Given the description of an element on the screen output the (x, y) to click on. 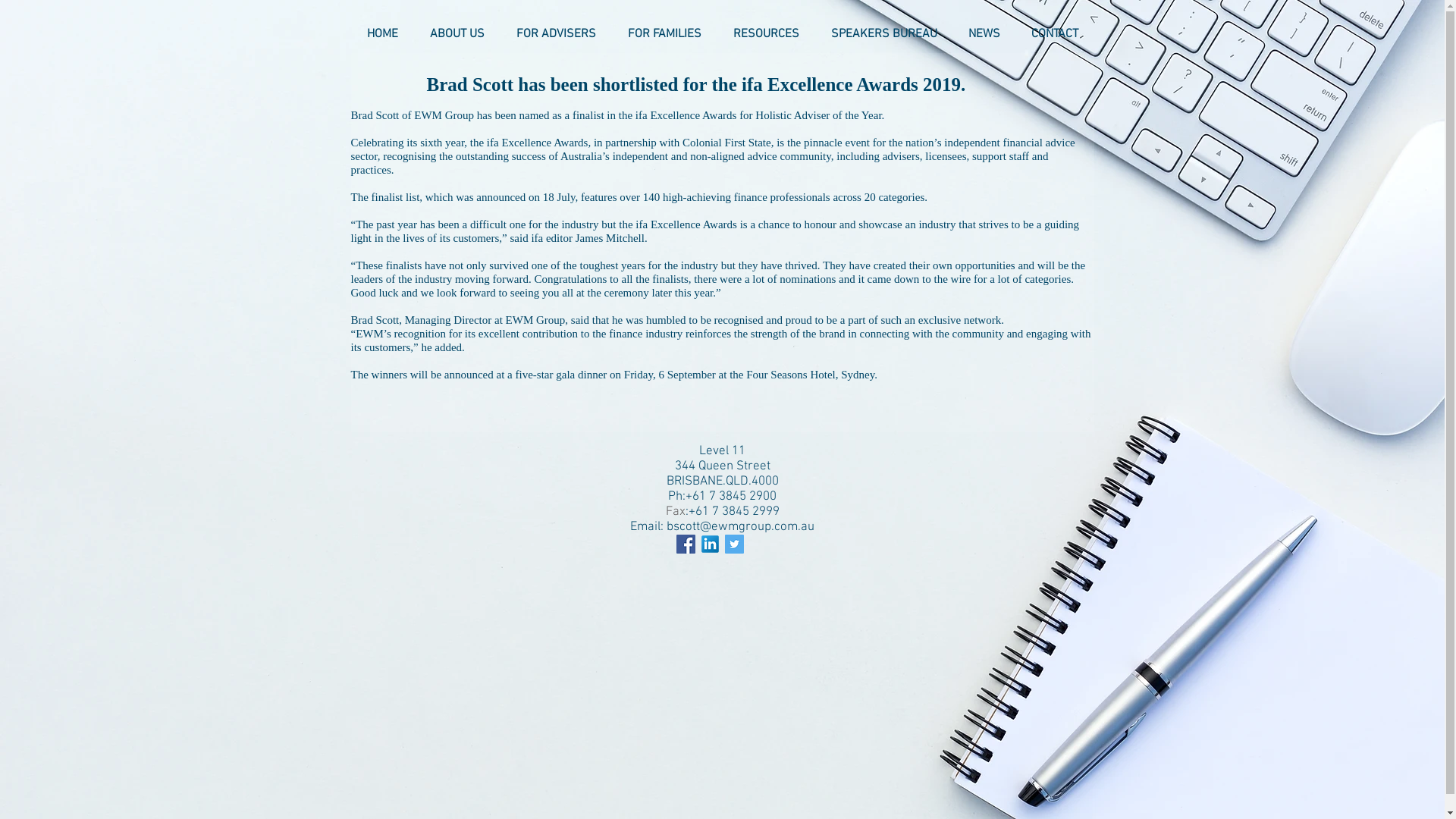
ABOUT US Element type: text (457, 34)
NEWS Element type: text (983, 34)
RESOURCES Element type: text (766, 34)
bscott@ewmgroup.com.au Element type: text (740, 526)
SPEAKERS BUREAU Element type: text (883, 34)
HOME Element type: text (381, 34)
FOR FAMILIES Element type: text (663, 34)
FOR ADVISERS Element type: text (555, 34)
CONTACT Element type: text (1055, 34)
